Given the description of an element on the screen output the (x, y) to click on. 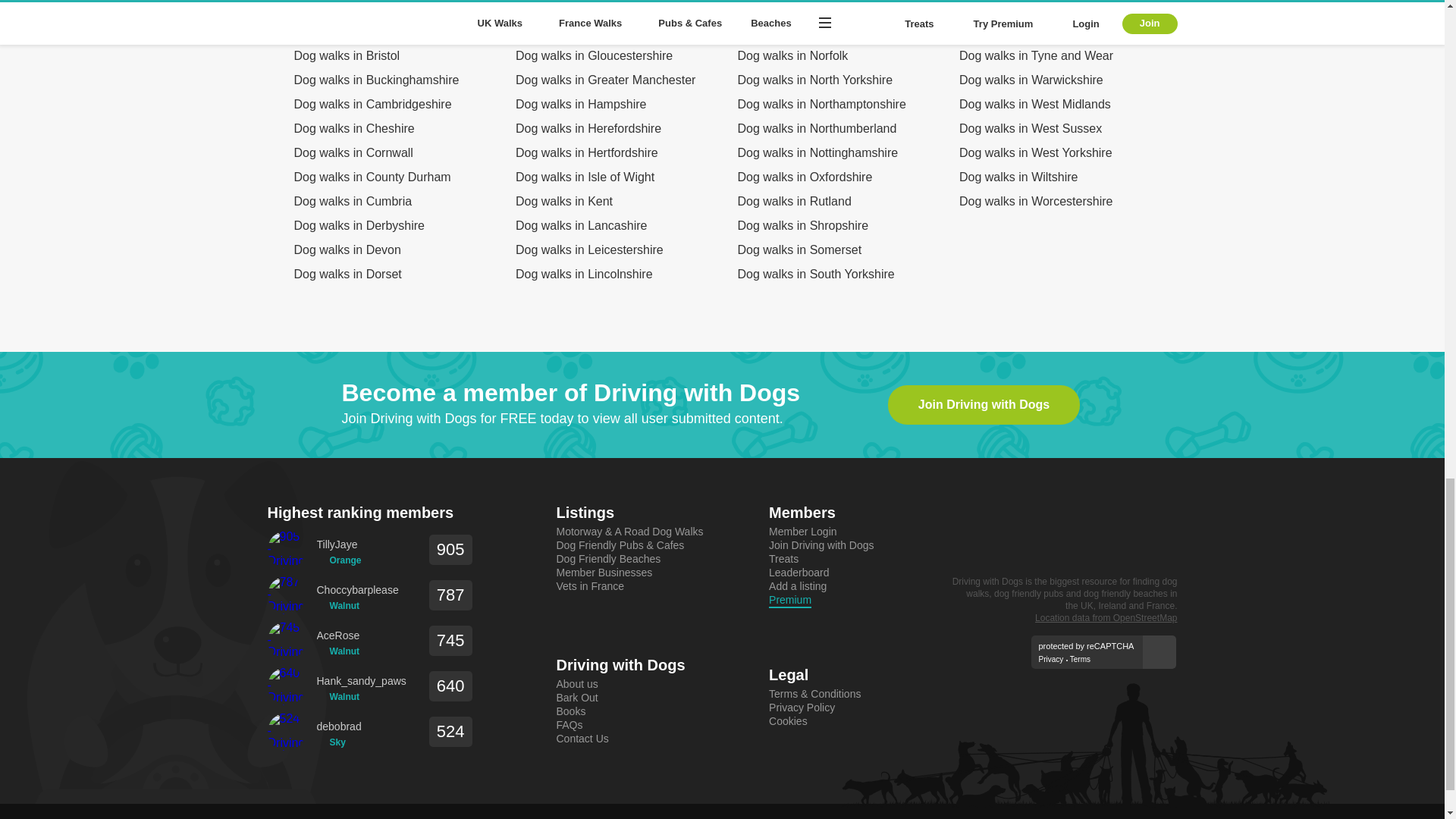
TillyJaye (339, 544)
Choccybarplease (357, 590)
AceRose (338, 635)
debobrad (339, 726)
